Given the description of an element on the screen output the (x, y) to click on. 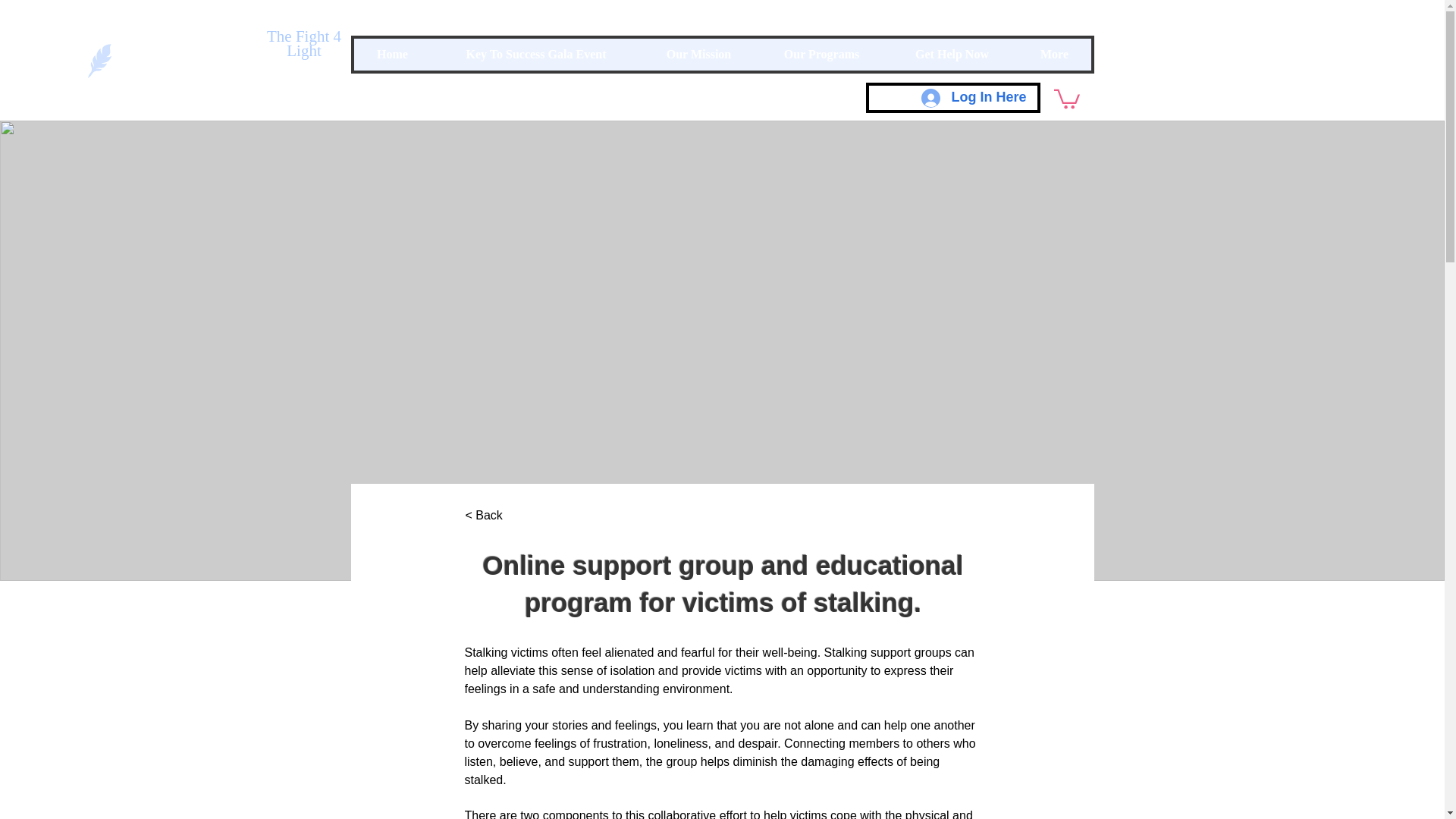
Our Programs (821, 54)
Home (391, 54)
Log In Here (973, 97)
Our Mission (697, 54)
Get Help Now (950, 54)
Key To Success Gala Event (535, 54)
